Given the description of an element on the screen output the (x, y) to click on. 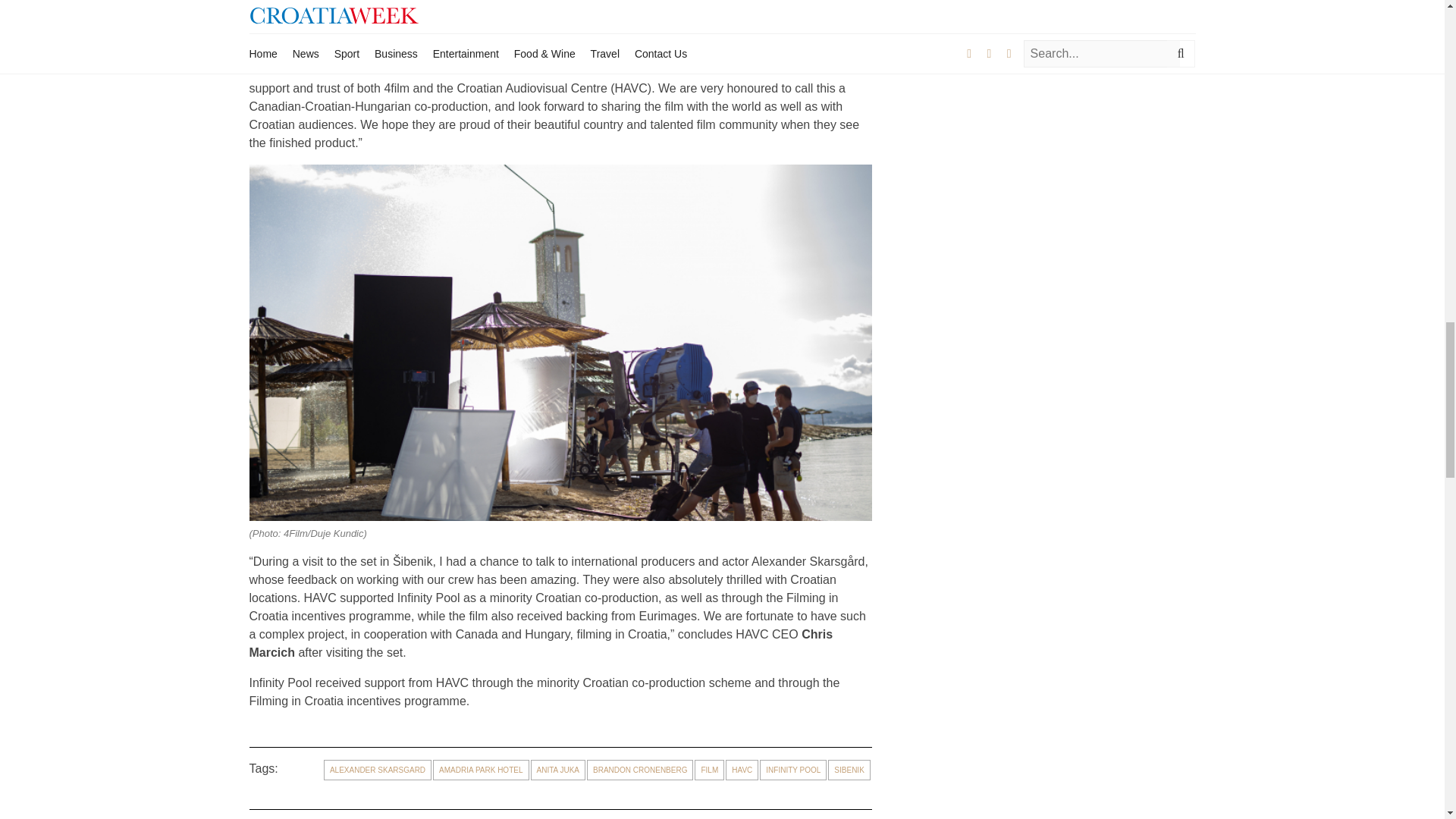
ANITA JUKA (558, 770)
SIBENIK (848, 770)
ALEXANDER SKARSGARD (376, 770)
INFINITY POOL (793, 770)
FILM (708, 770)
HAVC (741, 770)
AMADRIA PARK HOTEL (480, 770)
BRANDON CRONENBERG (639, 770)
